Given the description of an element on the screen output the (x, y) to click on. 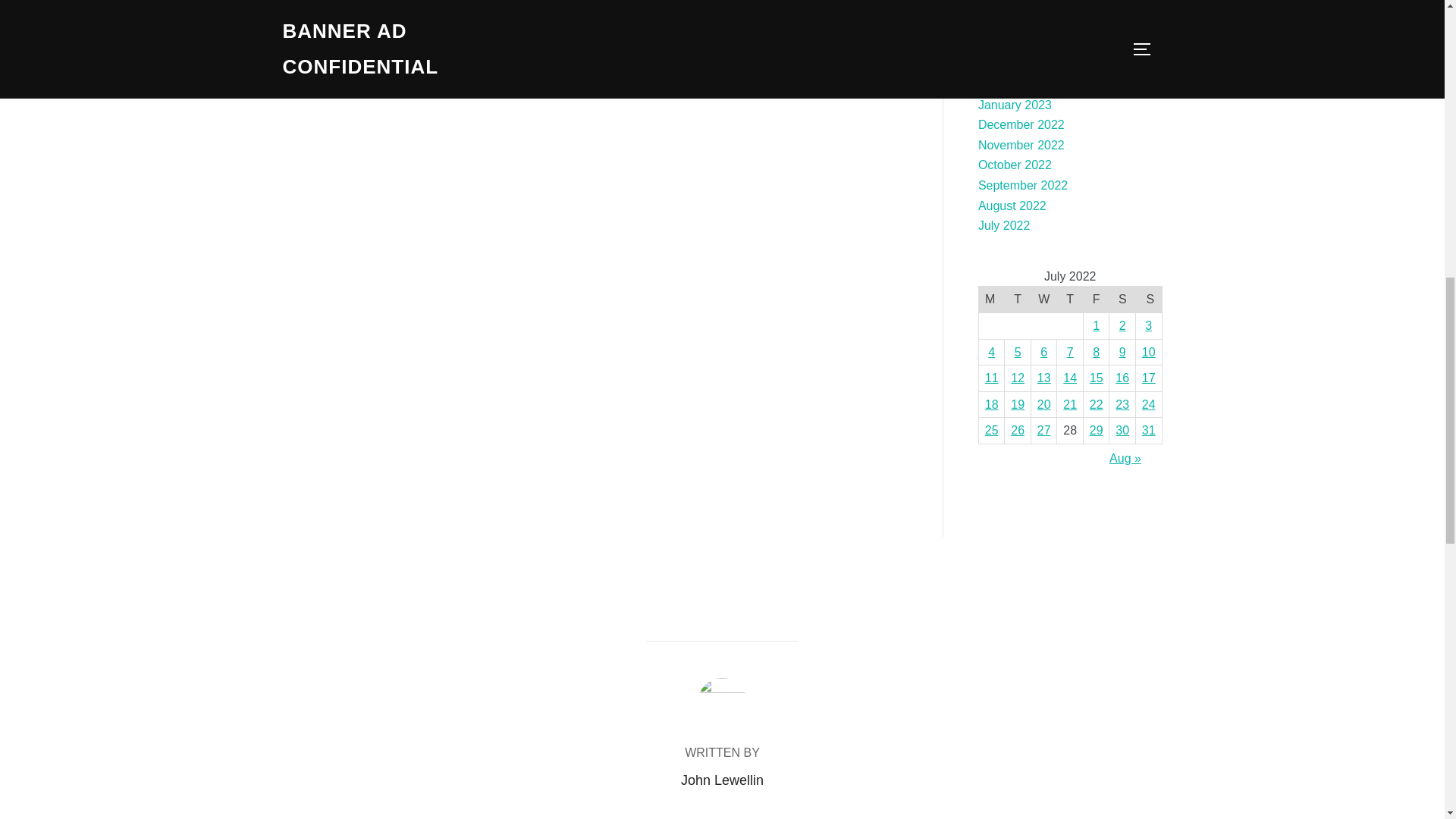
Posts by John Lewellin (721, 780)
Sunday (1148, 299)
Thursday (1070, 299)
Friday (1096, 299)
Saturday (1122, 299)
Tuesday (1017, 299)
Monday (991, 299)
Wednesday (1043, 299)
